Given the description of an element on the screen output the (x, y) to click on. 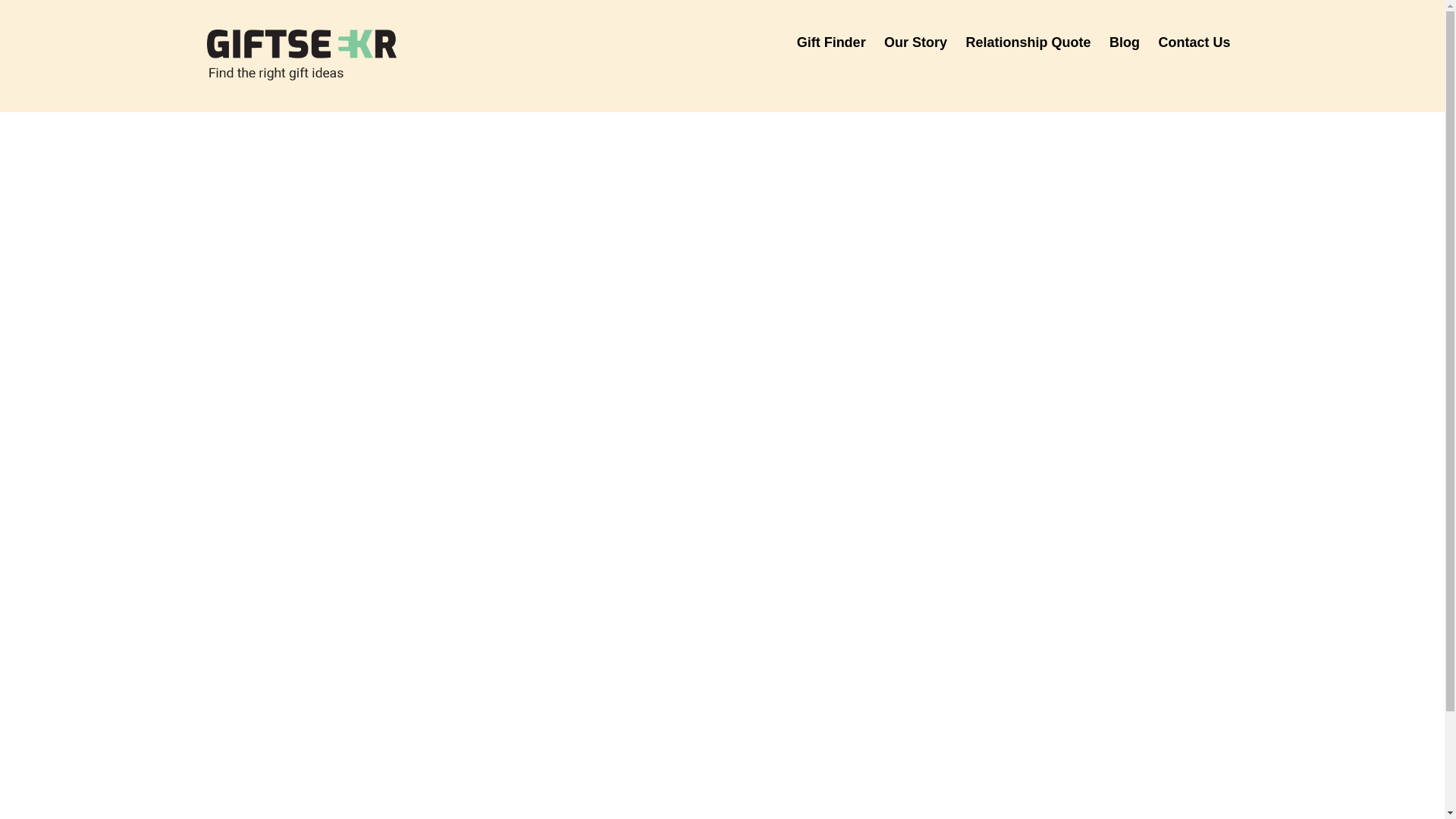
Gift Finder (831, 42)
Our Story (915, 42)
Blog (1124, 42)
Relationship Quote (1028, 42)
Contact Us (1193, 42)
